Given the description of an element on the screen output the (x, y) to click on. 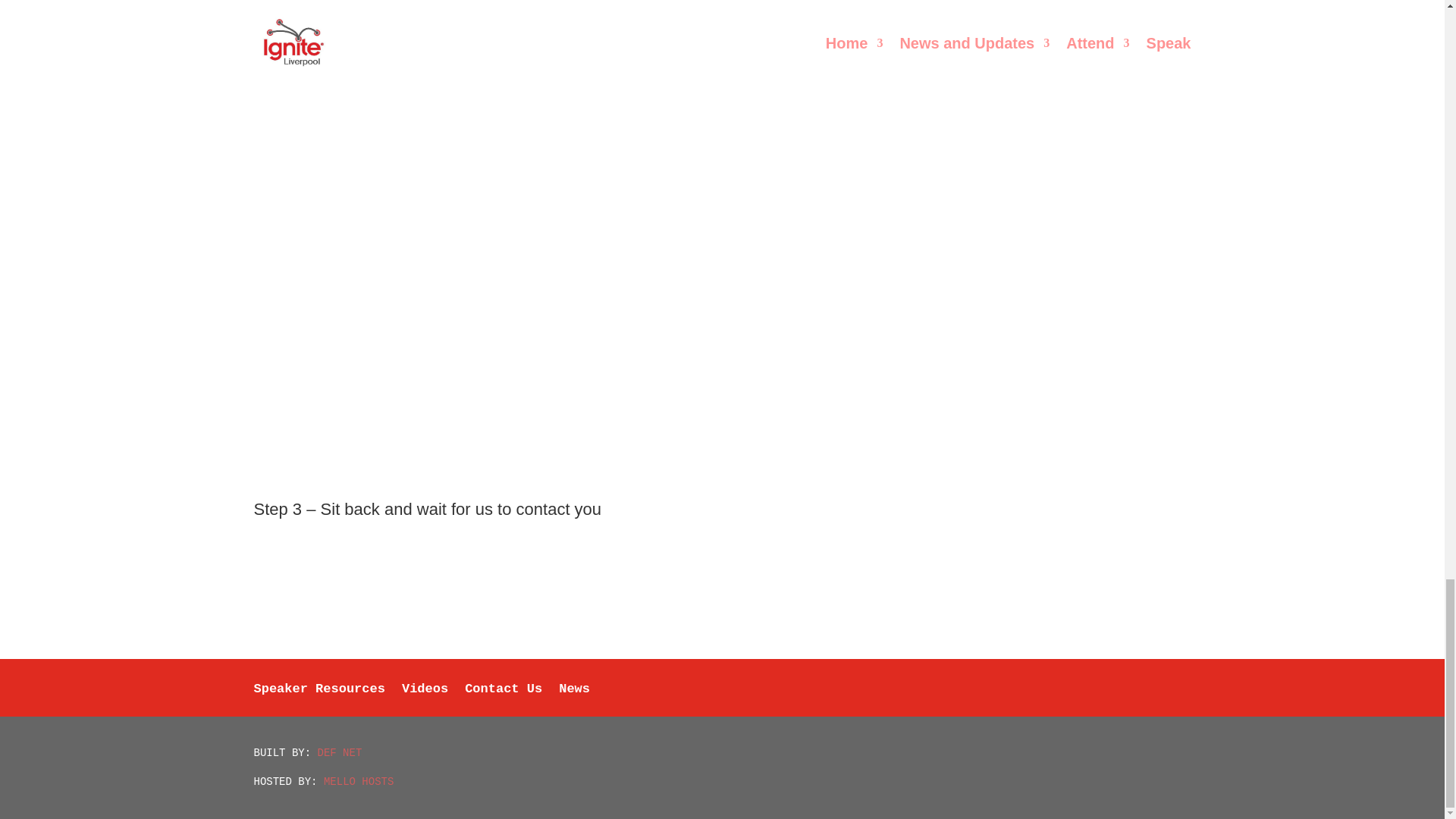
Speaker Resources (318, 699)
News (574, 699)
Videos (424, 699)
MELLO HOSTS (358, 781)
Website Hosting (358, 781)
Contact Us (502, 699)
DEF NET (339, 752)
